Given the description of an element on the screen output the (x, y) to click on. 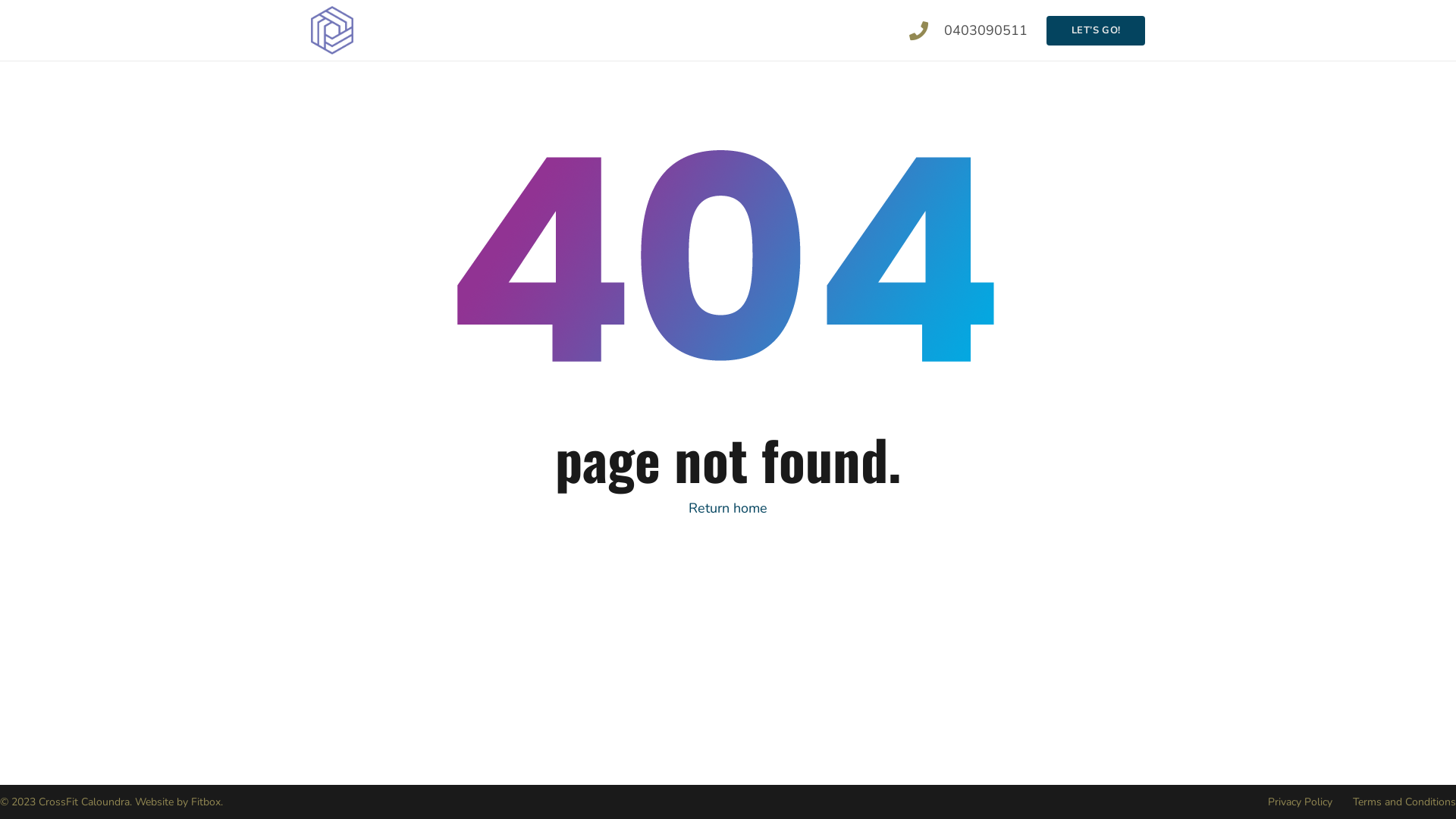
Return home Element type: text (727, 507)
Privacy Policy Element type: text (1299, 801)
Fitbox. Element type: text (206, 801)
0403090511 Element type: text (985, 30)
